Given the description of an element on the screen output the (x, y) to click on. 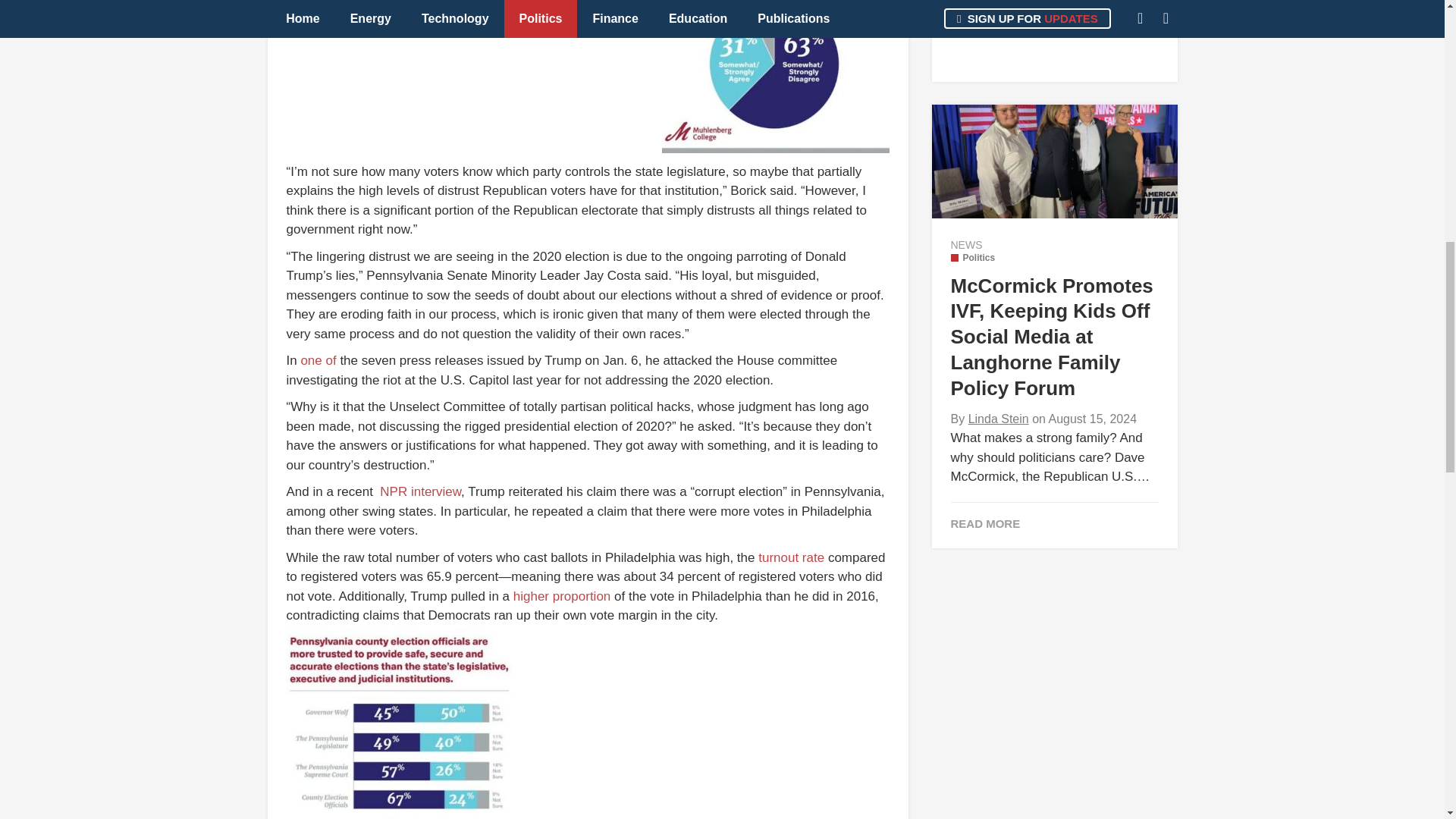
View all posts in Politics (972, 257)
turnout rate (791, 557)
one of (317, 359)
NPR interview (420, 491)
higher proportion (562, 595)
Advertisement (1053, 33)
Posts by Linda Stein (998, 418)
